Given the description of an element on the screen output the (x, y) to click on. 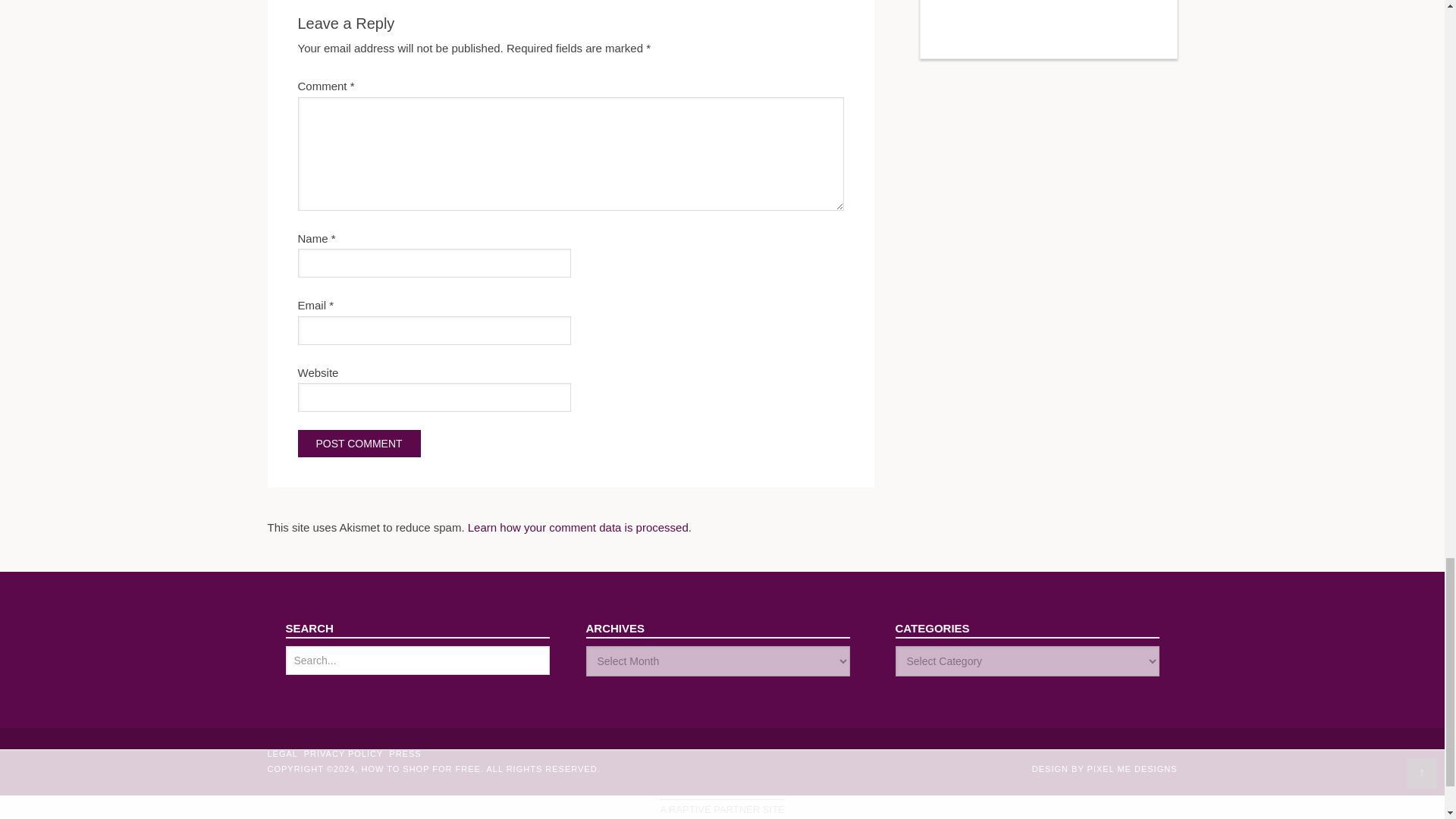
Post Comment (358, 443)
